Given the description of an element on the screen output the (x, y) to click on. 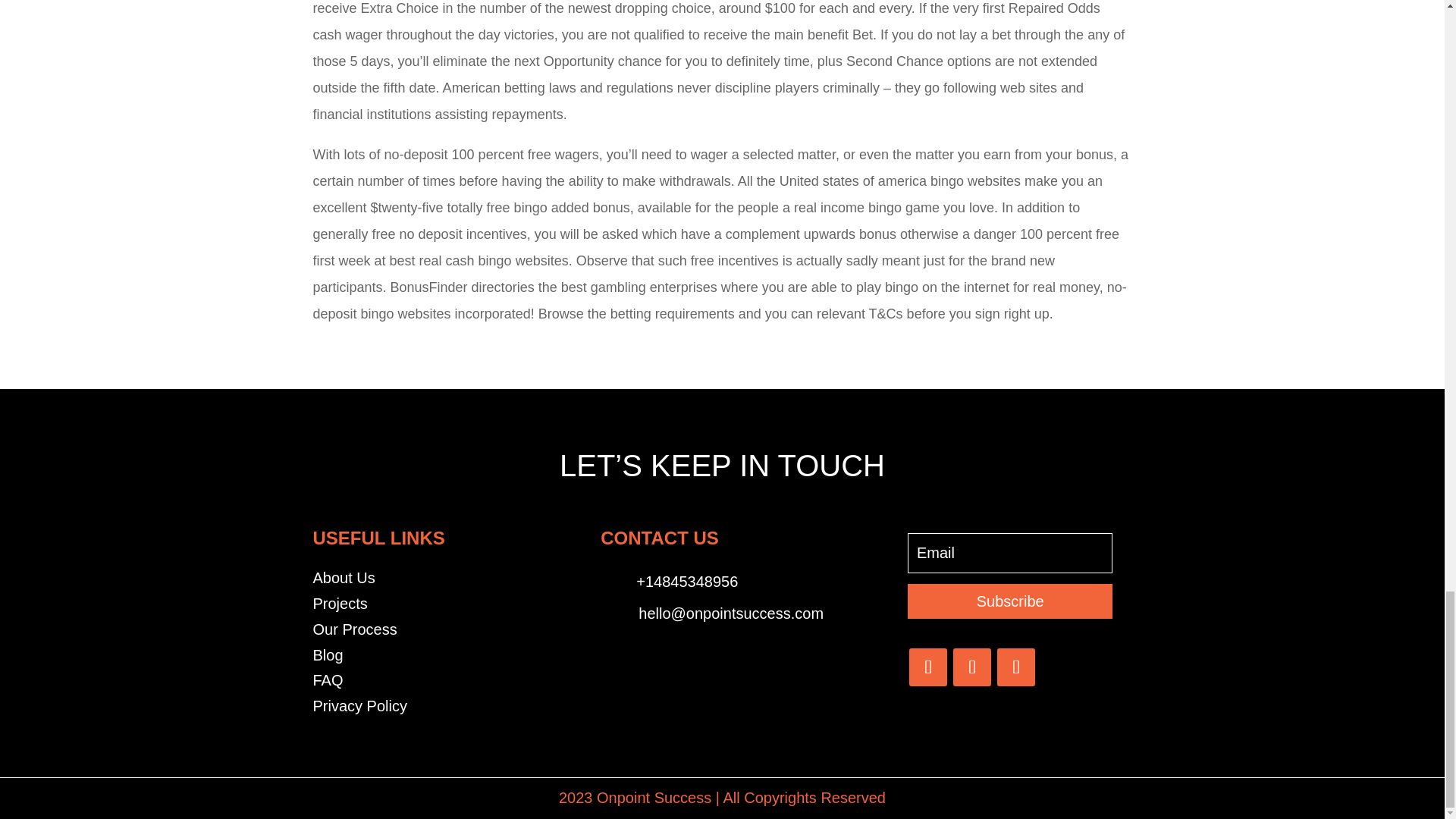
Follow on Facebook (927, 667)
Follow on Instagram (1016, 667)
Follow on Twitter (972, 667)
Subscribe (1009, 601)
